Given the description of an element on the screen output the (x, y) to click on. 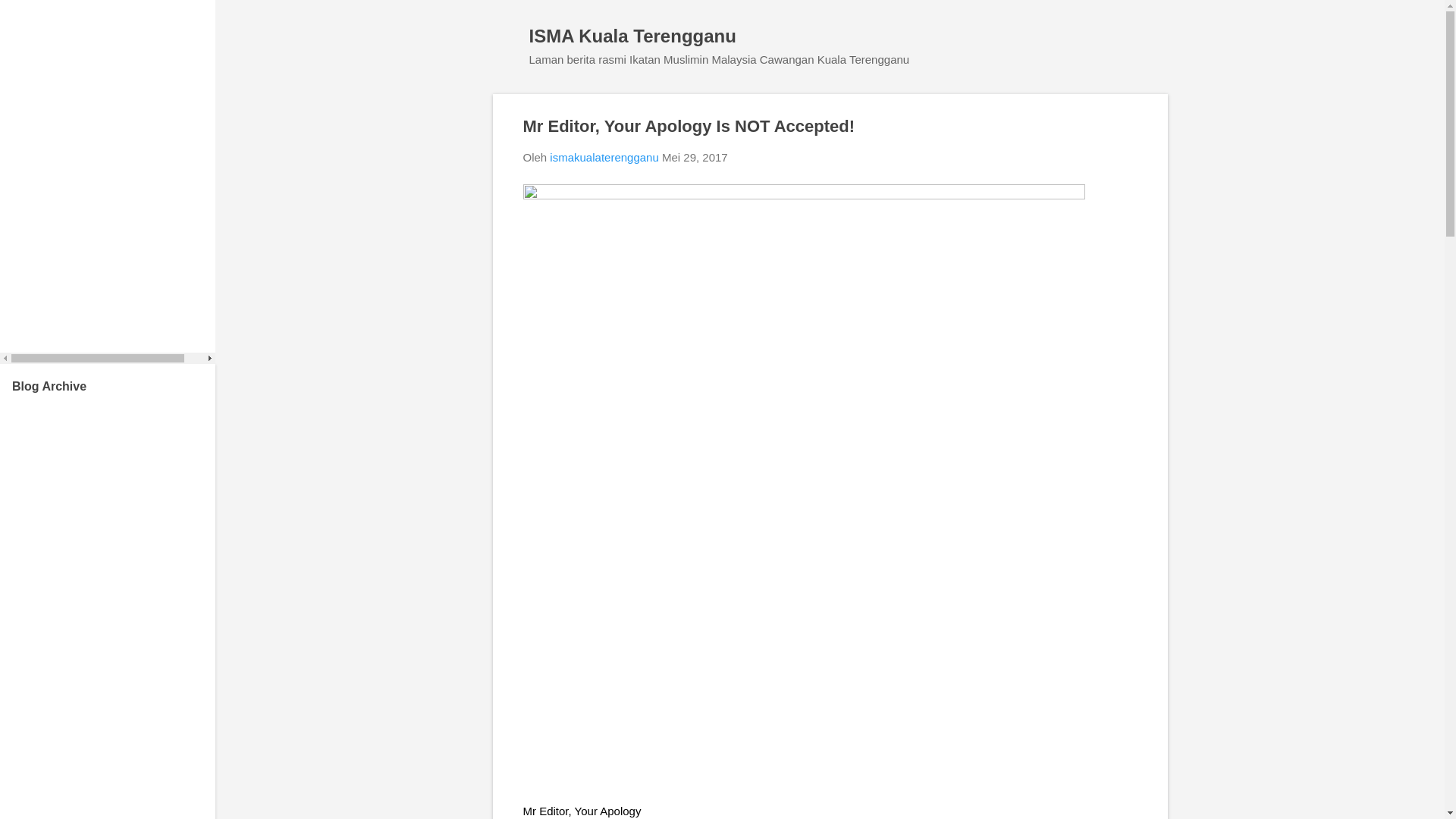
author profile (604, 156)
permanent link (695, 156)
ismakualaterengganu (604, 156)
Mei 29, 2017 (695, 156)
ISMA Kuala Terengganu (632, 35)
